Given the description of an element on the screen output the (x, y) to click on. 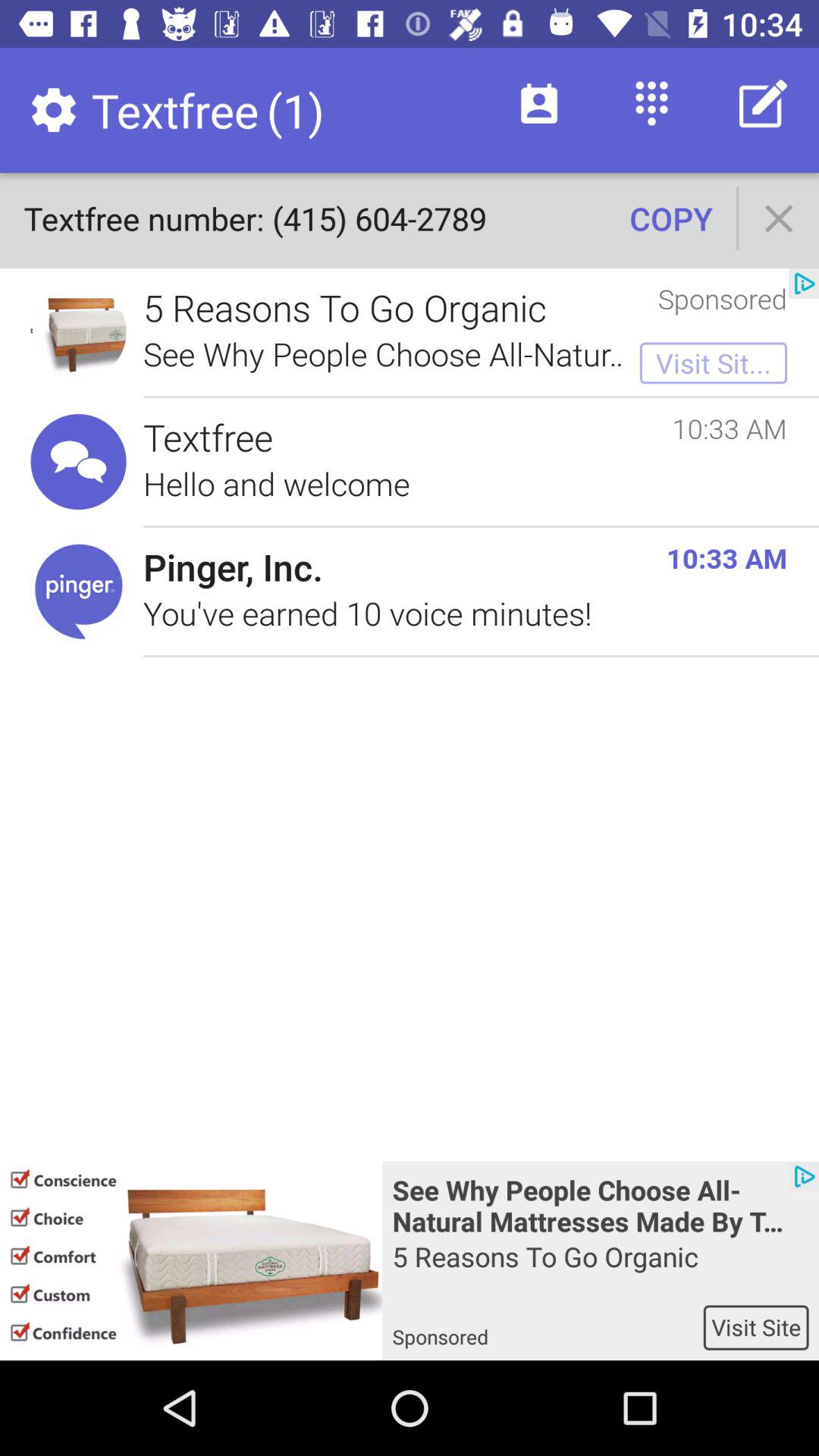
turn on the item below the 5 reasons to item (755, 1327)
